Given the description of an element on the screen output the (x, y) to click on. 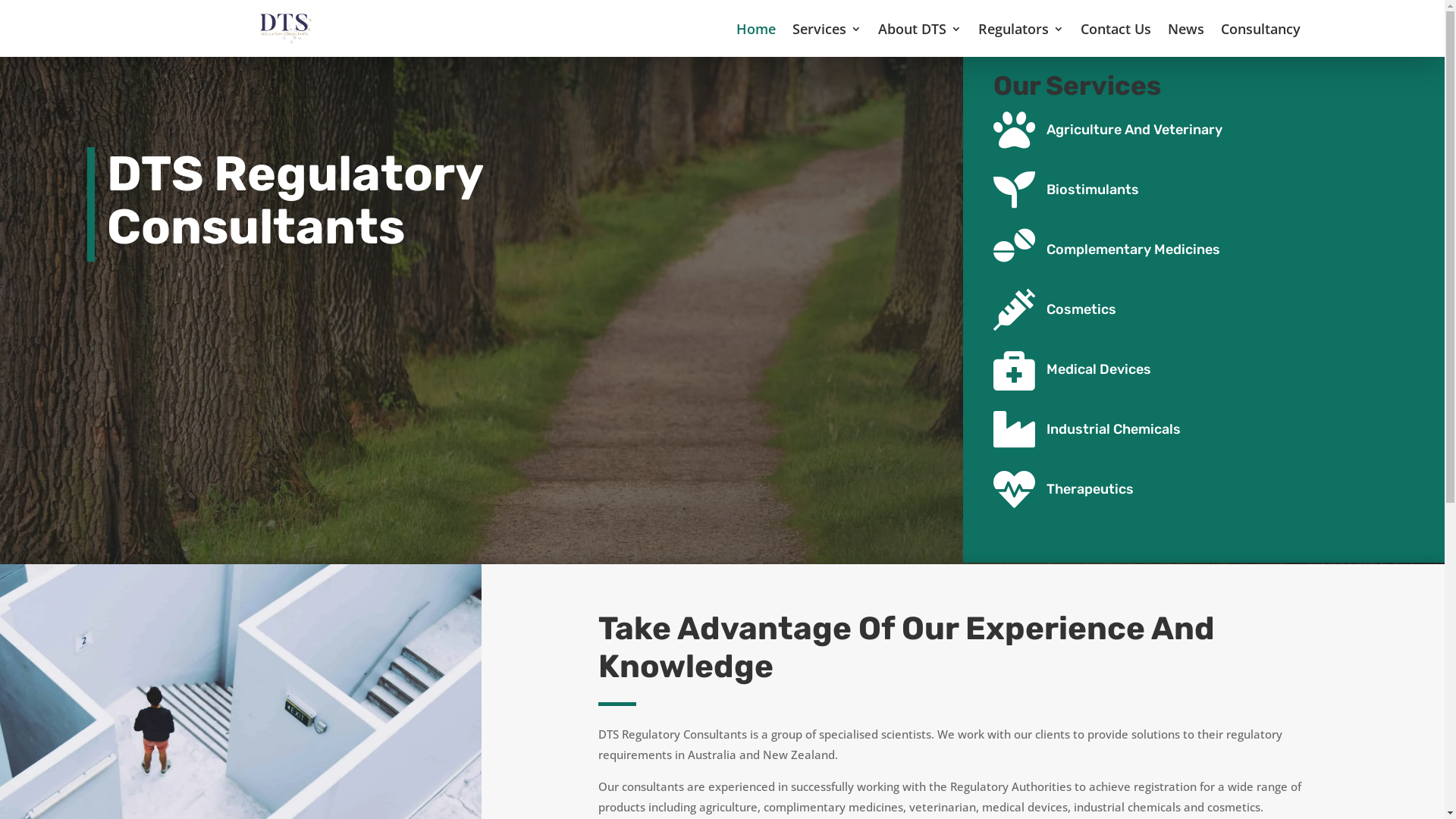
About DTS Element type: text (919, 28)
Agriculture And Veterinary Element type: text (1134, 129)
Medical Devices Element type: text (1098, 368)
Industrial Chemicals Element type: text (1113, 428)
Home Element type: text (755, 28)
Regulators Element type: text (1020, 28)
Cosmetics Element type: text (1081, 309)
Therapeutics Element type: text (1089, 488)
Services Element type: text (825, 28)
Complementary Medicines Element type: text (1133, 249)
Contact Us Element type: text (1114, 28)
Biostimulants Element type: text (1092, 189)
Consultancy Element type: text (1260, 28)
News Element type: text (1185, 28)
